Given the description of an element on the screen output the (x, y) to click on. 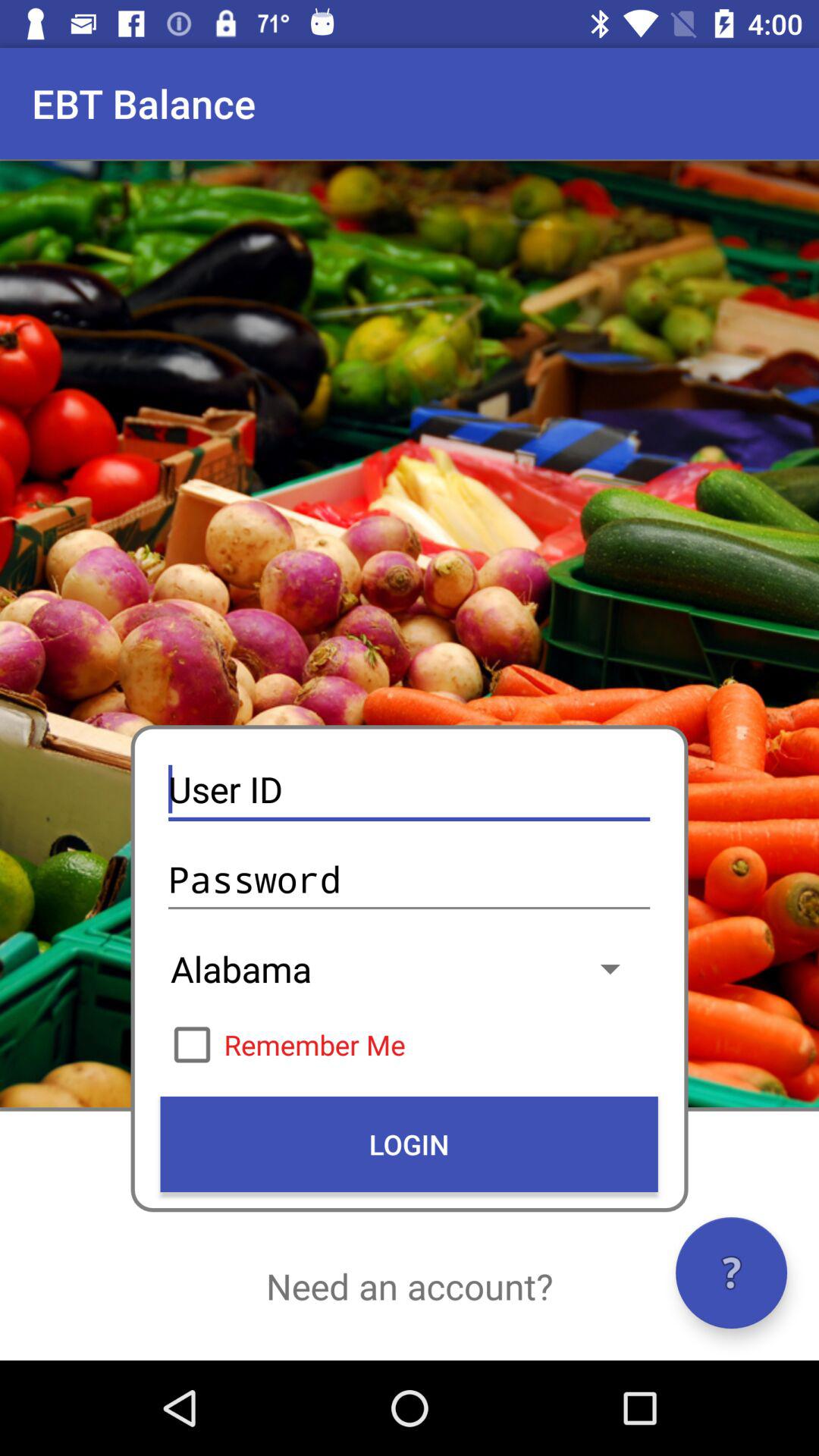
open item above login (409, 1044)
